Given the description of an element on the screen output the (x, y) to click on. 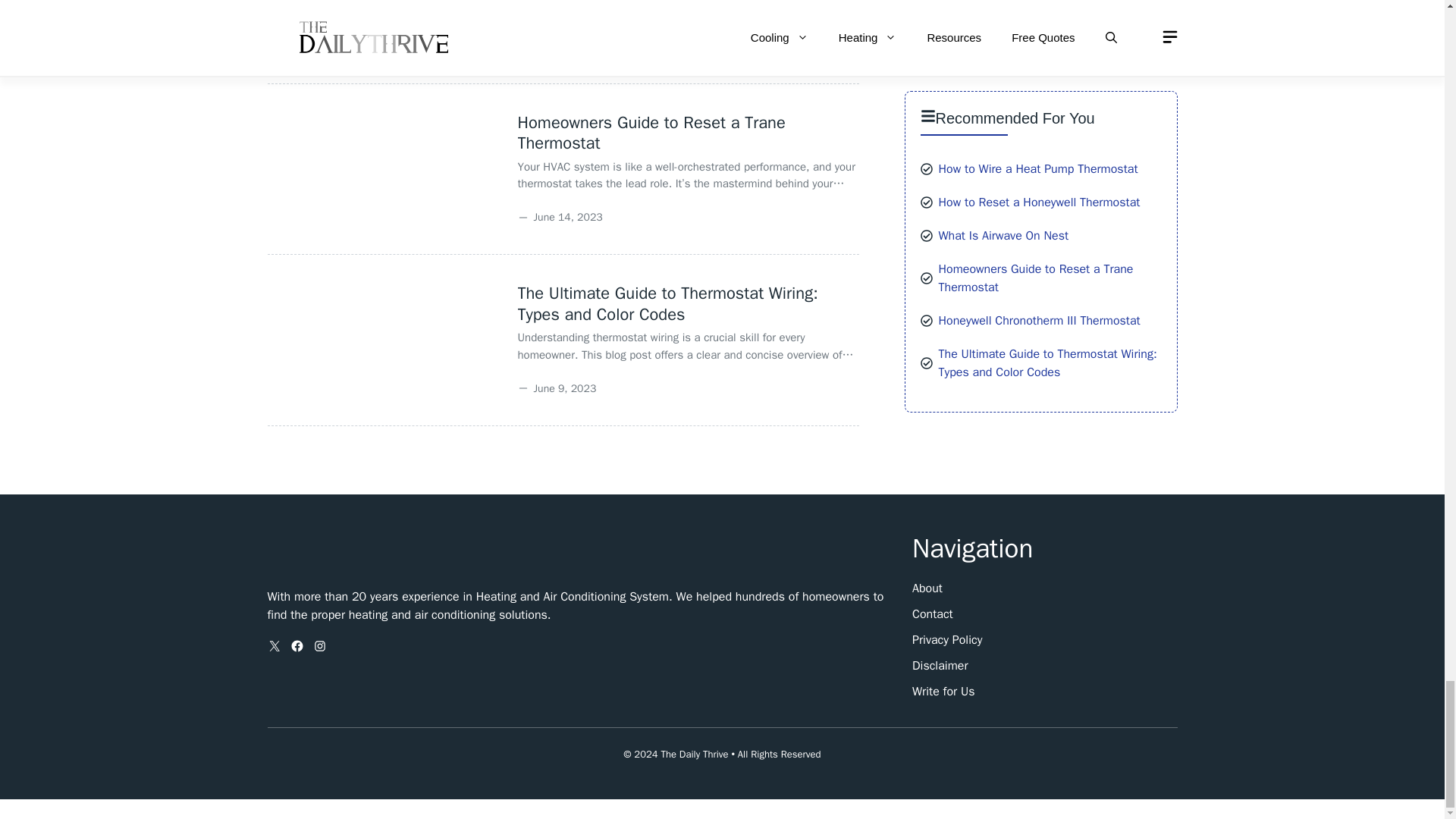
mobile logo thedailythrive (361, 554)
